Given the description of an element on the screen output the (x, y) to click on. 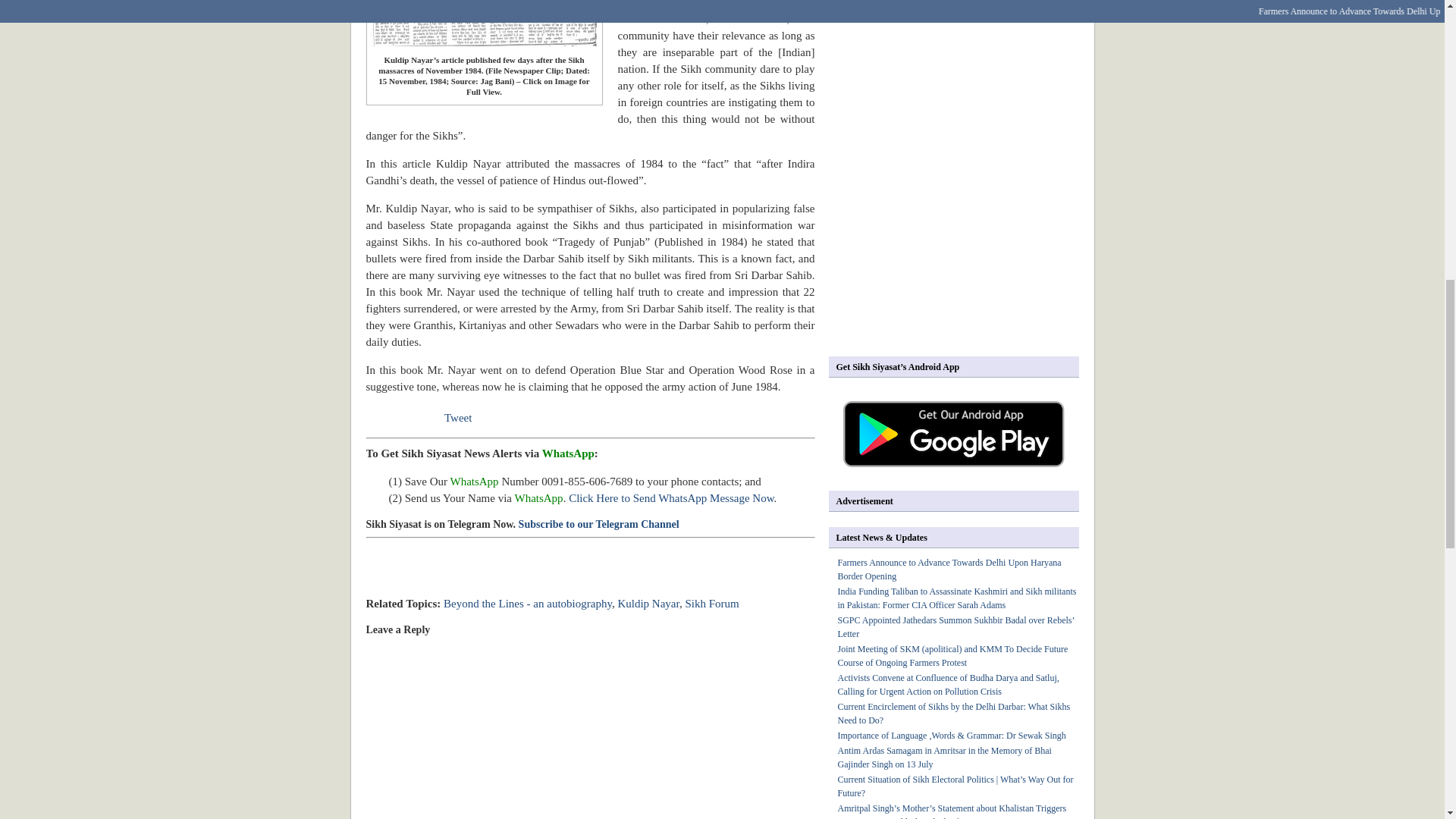
Advertisement (542, 577)
